Given the description of an element on the screen output the (x, y) to click on. 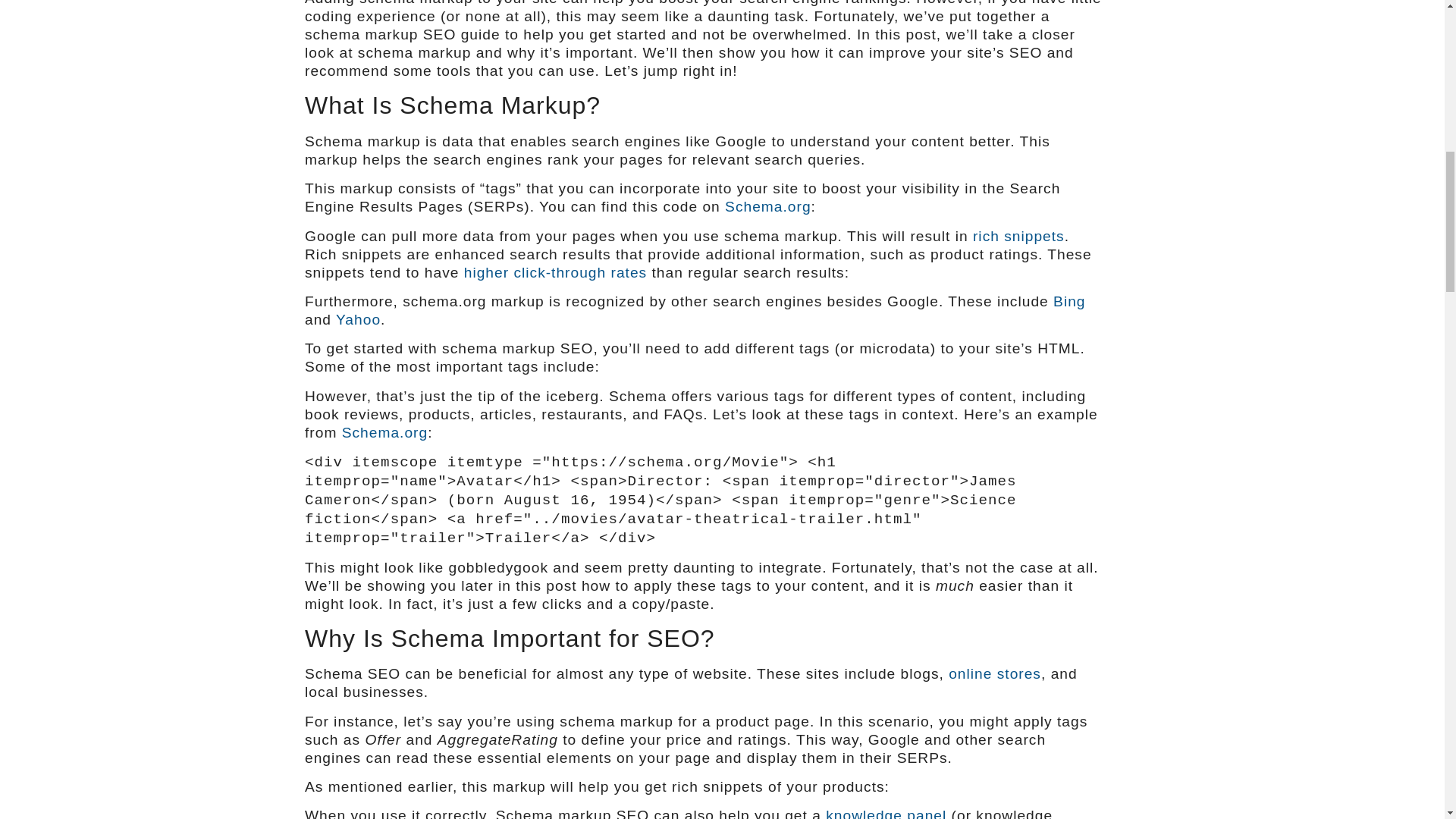
Schema.org (385, 432)
Schema.org (767, 206)
Yahoo (358, 319)
rich snippets (1018, 236)
Bing (1068, 301)
higher click-through rates (555, 272)
knowledge panel (885, 813)
online stores (995, 673)
